Given the description of an element on the screen output the (x, y) to click on. 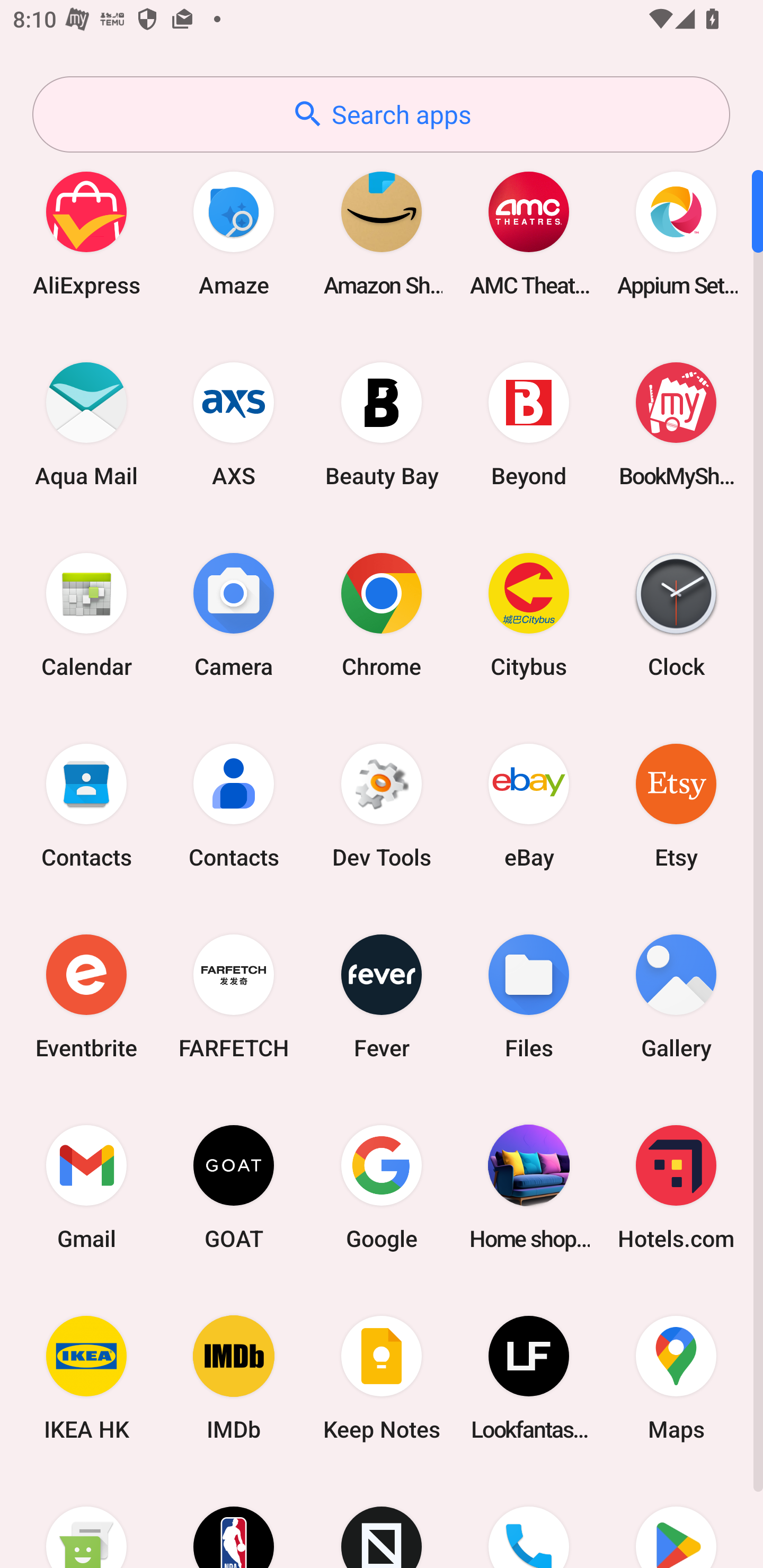
  Search apps (381, 114)
AliExpress (86, 233)
Amaze (233, 233)
Amazon Shopping (381, 233)
AMC Theatres (528, 233)
Appium Settings (676, 233)
Aqua Mail (86, 424)
AXS (233, 424)
Beauty Bay (381, 424)
Beyond (528, 424)
BookMyShow (676, 424)
Calendar (86, 614)
Camera (233, 614)
Chrome (381, 614)
Citybus (528, 614)
Clock (676, 614)
Contacts (86, 805)
Contacts (233, 805)
Dev Tools (381, 805)
eBay (528, 805)
Etsy (676, 805)
Eventbrite (86, 996)
FARFETCH (233, 996)
Fever (381, 996)
Files (528, 996)
Gallery (676, 996)
Gmail (86, 1186)
GOAT (233, 1186)
Google (381, 1186)
Home shopping (528, 1186)
Hotels.com (676, 1186)
IKEA HK (86, 1377)
IMDb (233, 1377)
Keep Notes (381, 1377)
Lookfantastic (528, 1377)
Maps (676, 1377)
Messaging (86, 1520)
NBA (233, 1520)
Novelship (381, 1520)
Phone (528, 1520)
Play Store (676, 1520)
